Given the description of an element on the screen output the (x, y) to click on. 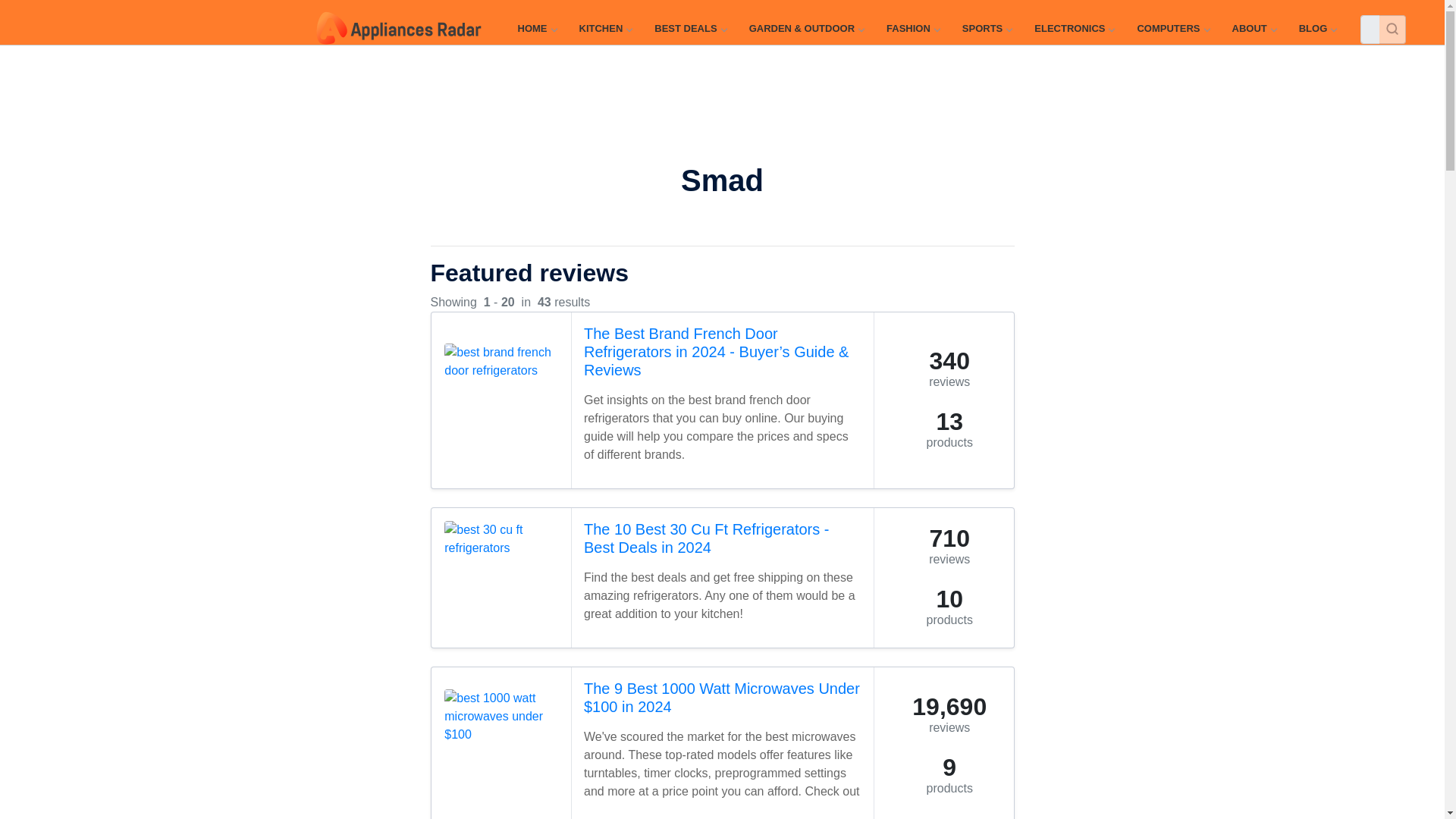
Home (536, 28)
HOME (536, 28)
KITCHEN (605, 28)
